Given the description of an element on the screen output the (x, y) to click on. 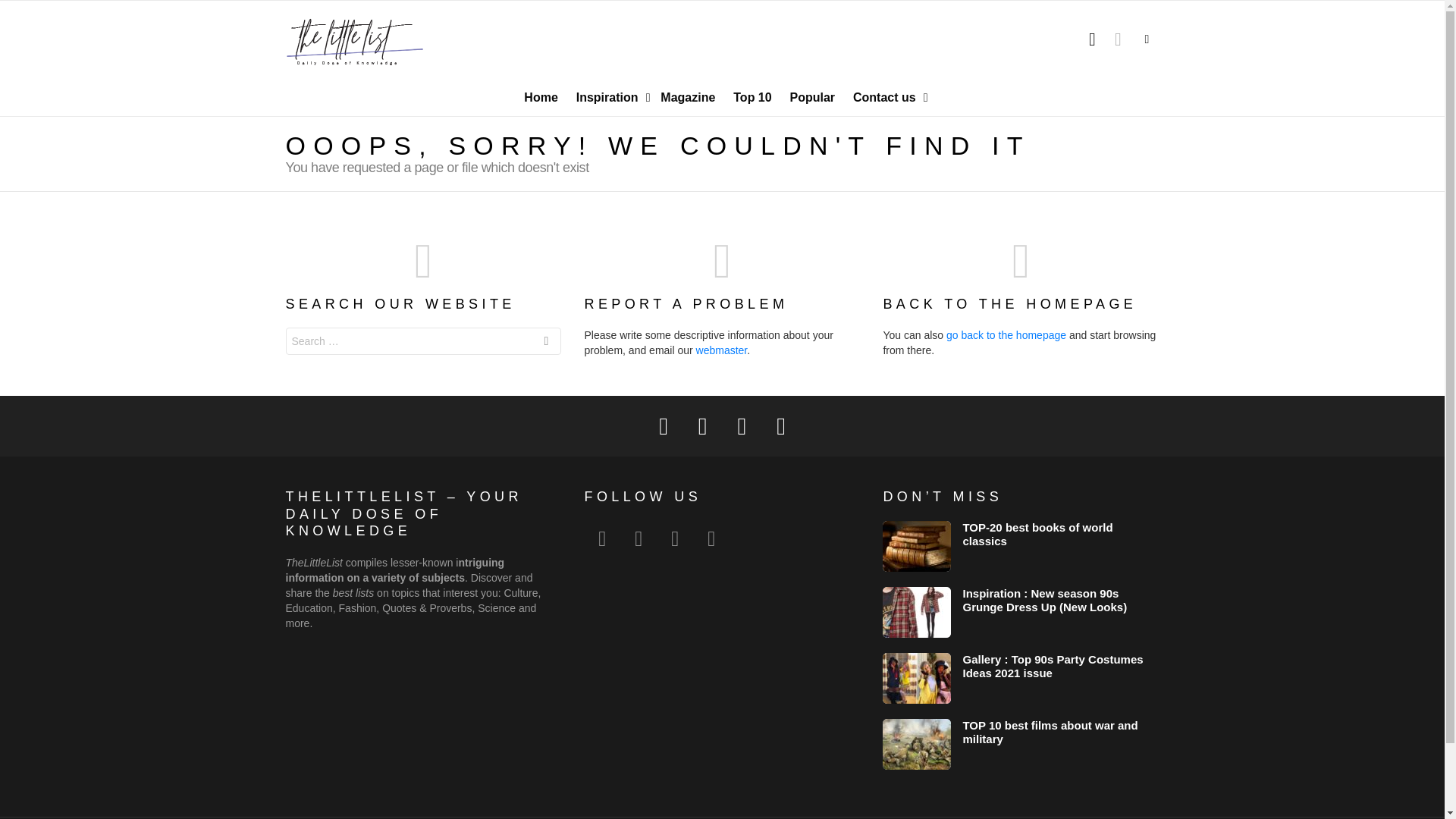
Search (545, 342)
Inspiration (609, 97)
flickr (638, 538)
TOP 10 best films about war and military (916, 744)
tumblr (711, 538)
Gallery : Top 90s Party Costumes Ideas 2021 issue (916, 677)
Top 10 (751, 97)
Home (540, 97)
TOP 10 best films about war and military (1049, 732)
go back to the homepage (1005, 335)
Magazine (687, 97)
pinterest (674, 538)
Search for: (422, 340)
webmaster (721, 349)
TOP-20 best books of world classics (1037, 533)
